Given the description of an element on the screen output the (x, y) to click on. 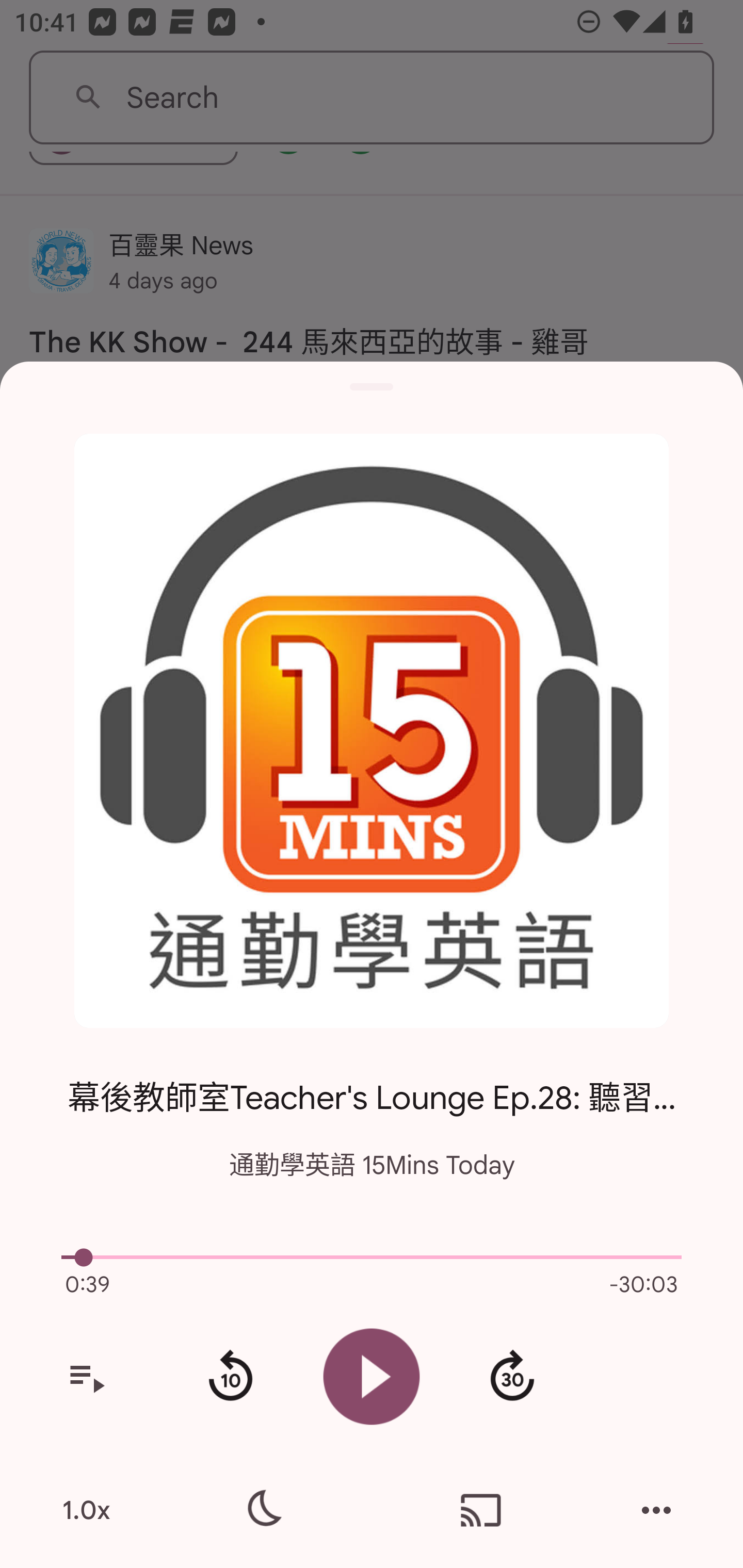
214.0 Current episode playback (371, 1257)
Play (371, 1376)
View your queue (86, 1376)
Rewind 10 seconds (230, 1376)
Fast forward 30 second (511, 1376)
1.0x Playback speed is 1.0. (86, 1510)
Sleep timer settings (261, 1510)
Cast. Disconnected (480, 1510)
More actions (655, 1510)
